Given the description of an element on the screen output the (x, y) to click on. 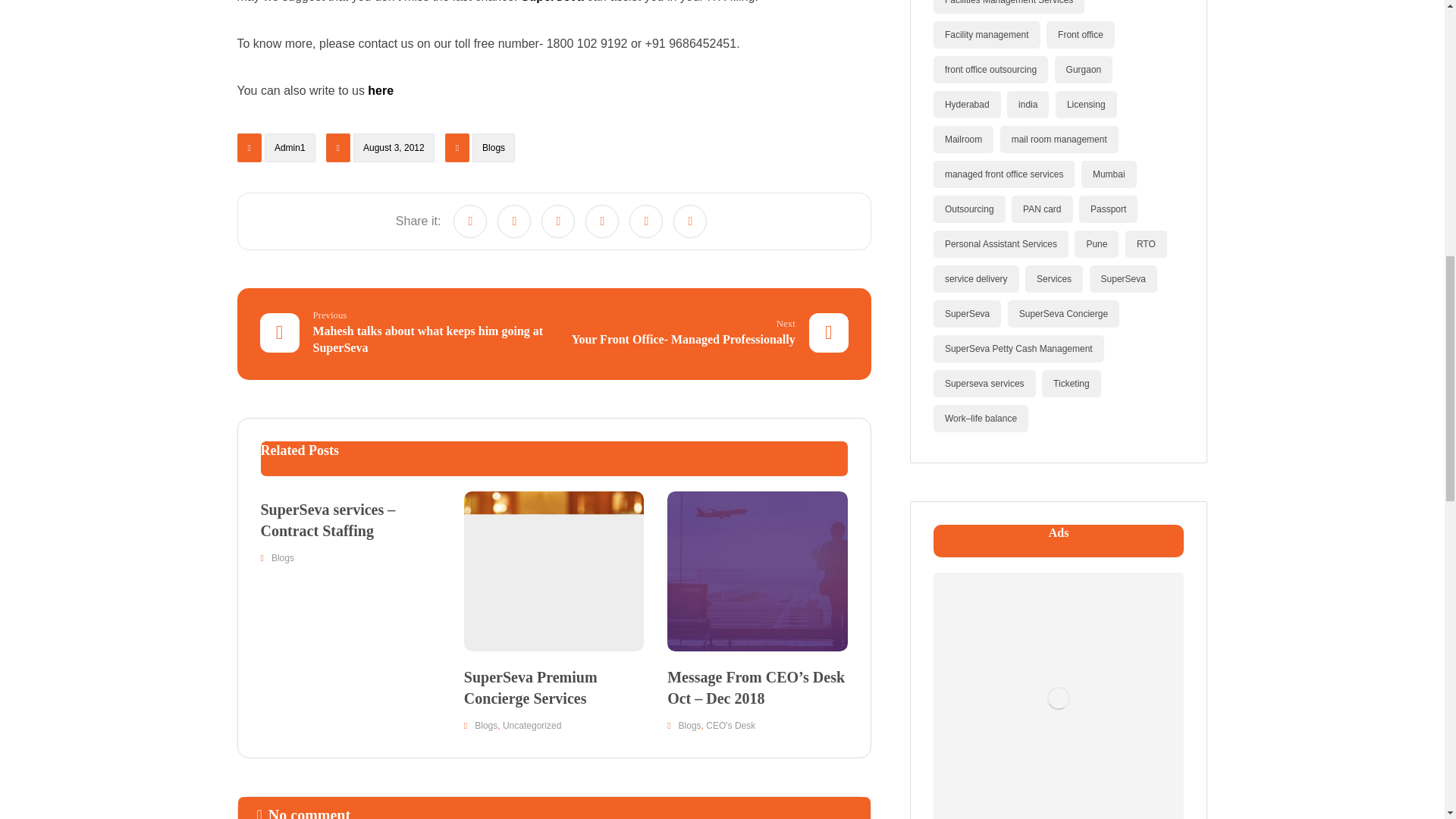
Published on (382, 151)
Posted by (276, 151)
Ads (1058, 695)
